Given the description of an element on the screen output the (x, y) to click on. 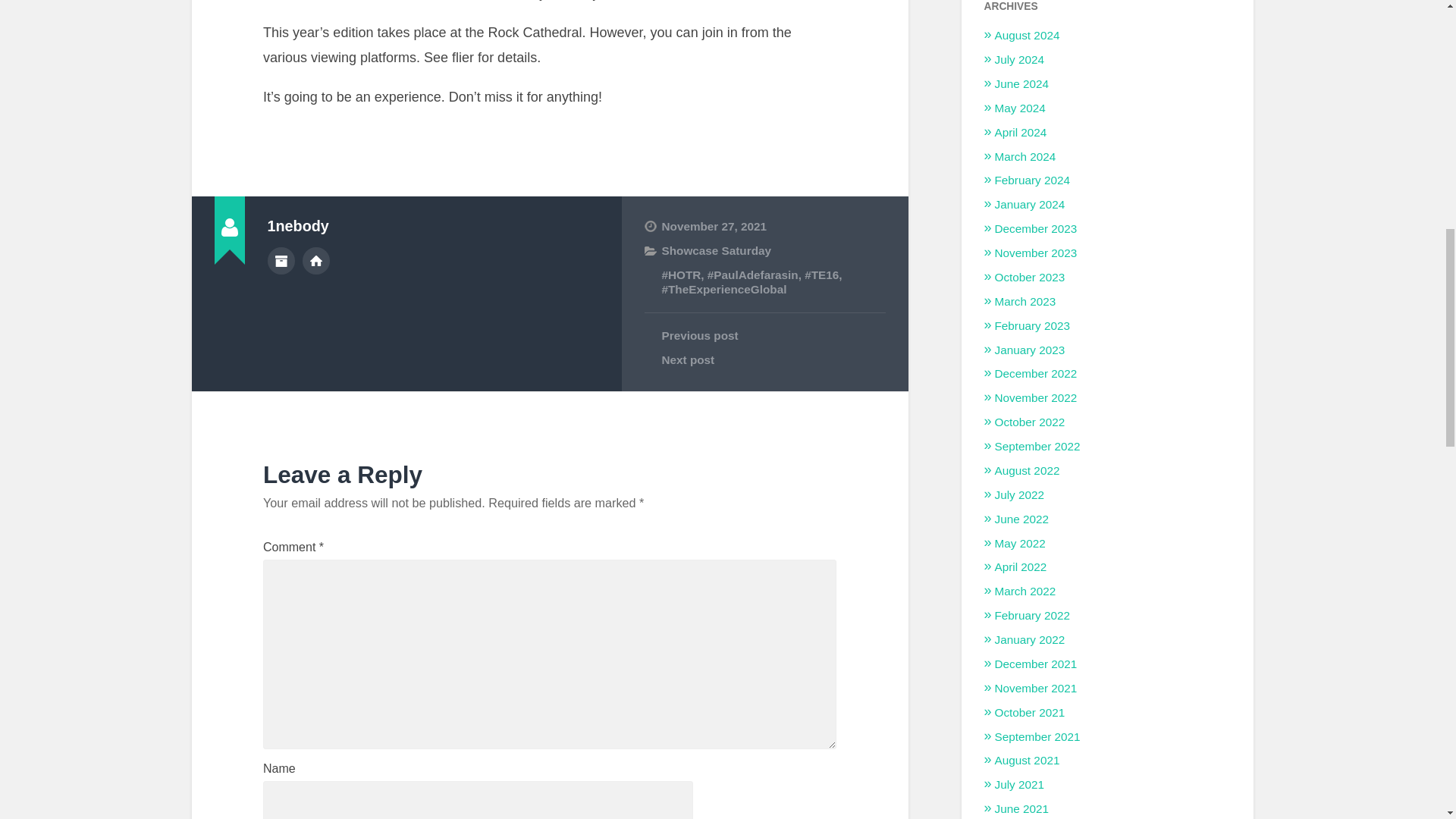
Author website (316, 260)
Previous post (765, 335)
Showcase Saturday (716, 250)
Next post (765, 359)
Author archive (280, 260)
